Given the description of an element on the screen output the (x, y) to click on. 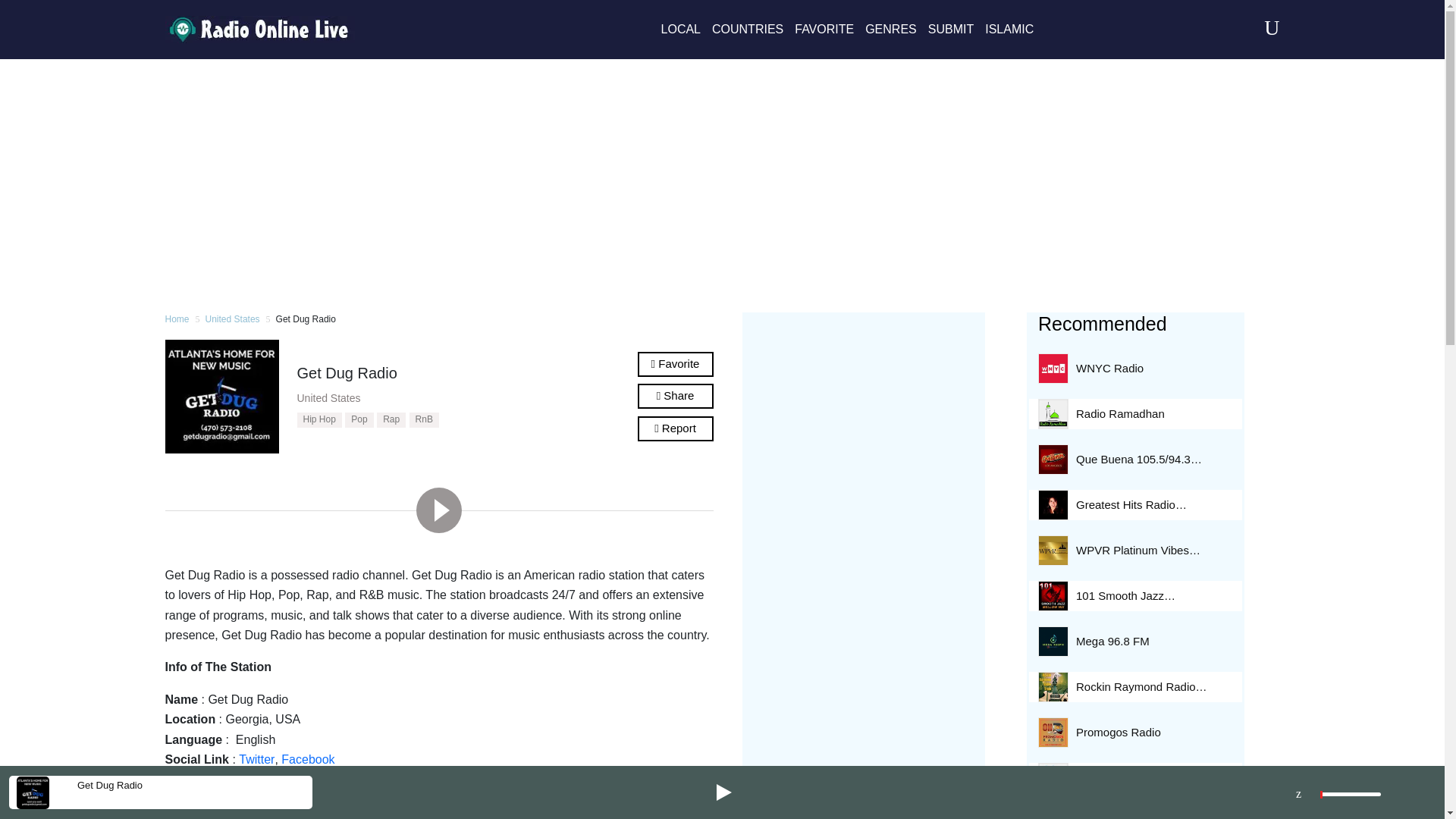
Home (177, 319)
RnB (424, 419)
ISLAMIC (1009, 29)
Hip Hop (319, 419)
FAVORITE (823, 29)
Rap (391, 419)
Mute (1303, 791)
United States (329, 398)
United States (232, 319)
LOCAL (680, 29)
Advertisement (862, 547)
Facebook (307, 759)
Get Dug Radio (109, 785)
getdug.com (253, 779)
